Given the description of an element on the screen output the (x, y) to click on. 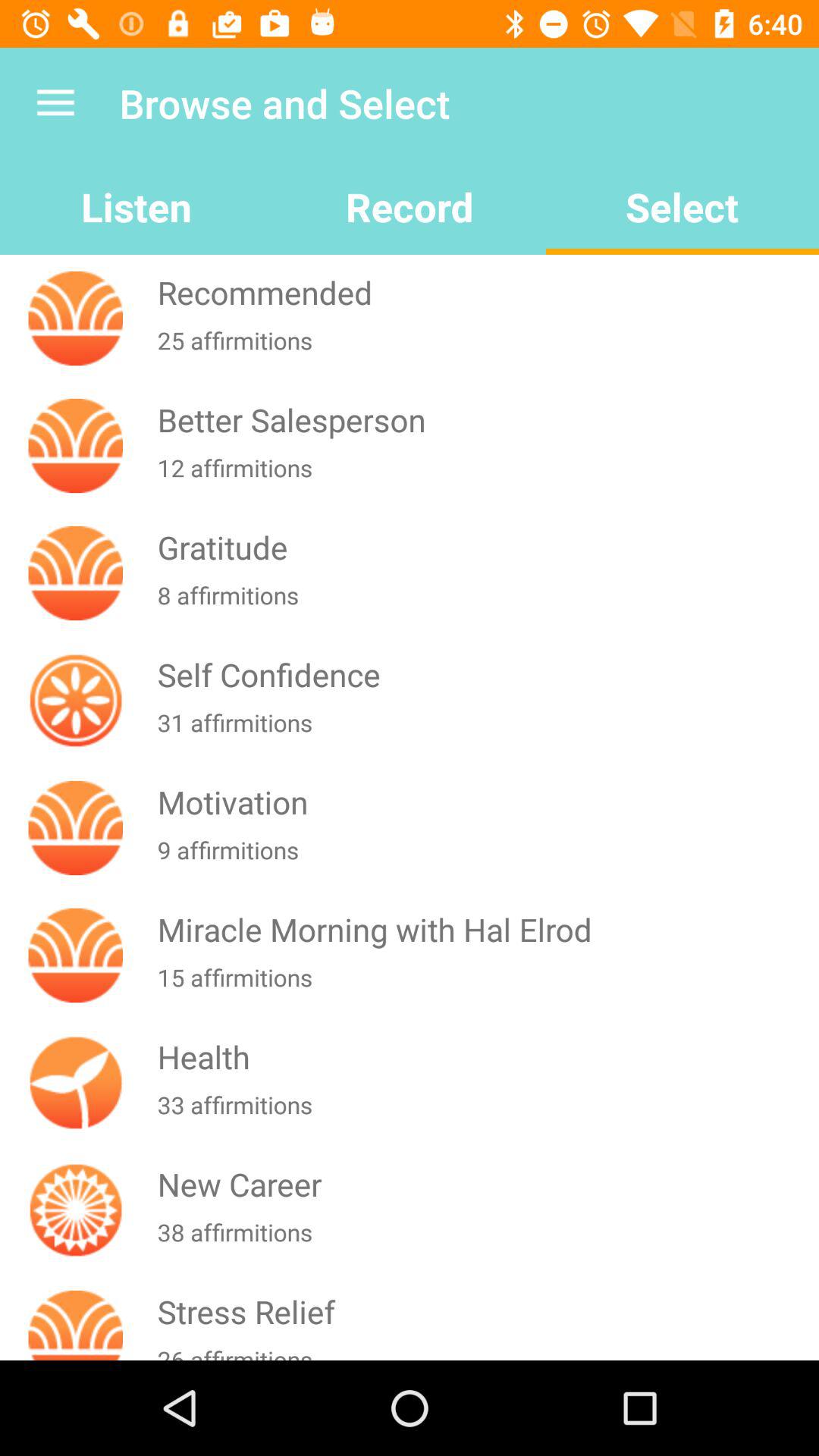
press icon below 25 affirmitions item (484, 419)
